Given the description of an element on the screen output the (x, y) to click on. 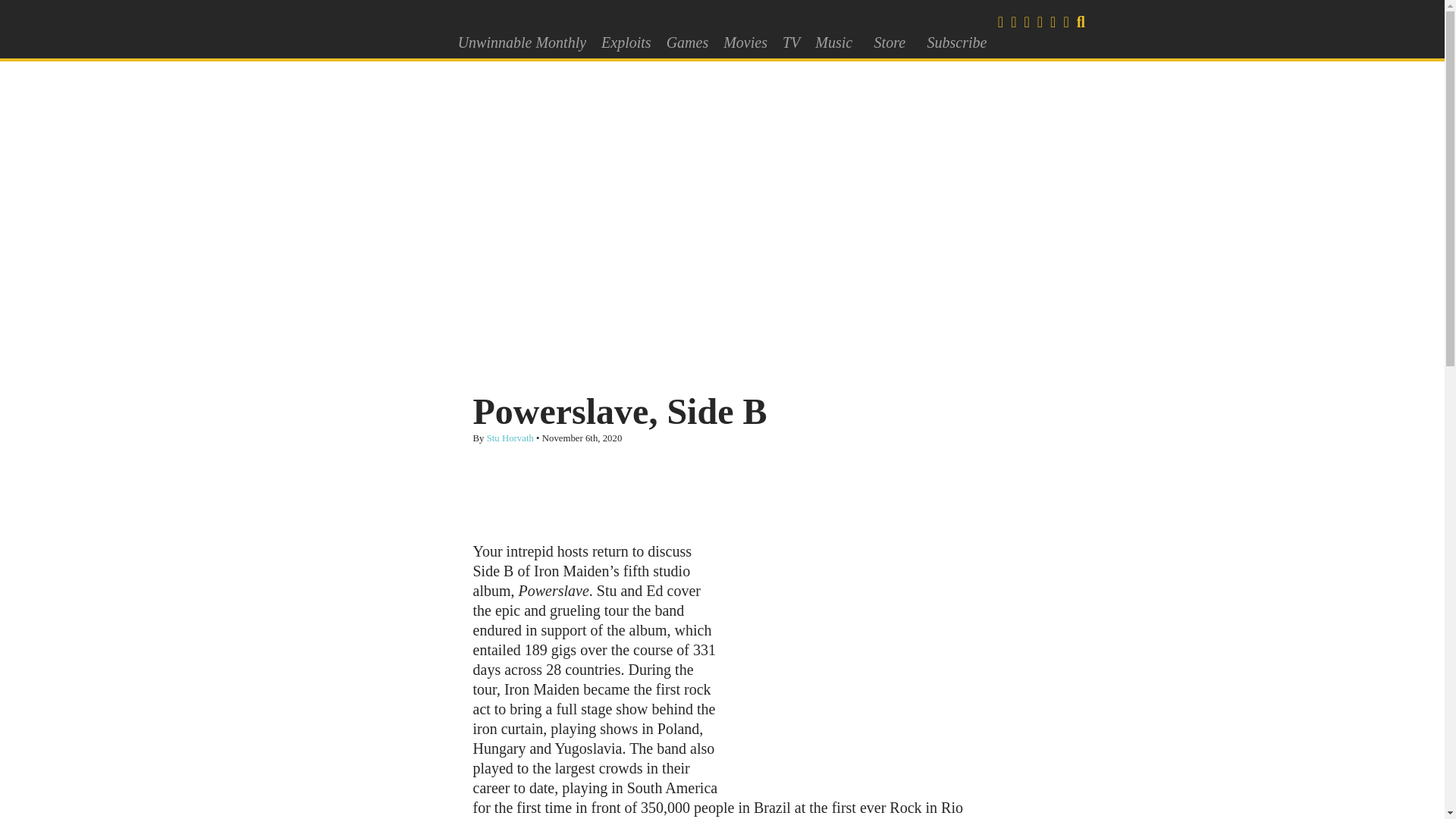
Games (687, 42)
Movies (745, 42)
TV (791, 42)
Exploits (626, 42)
Unwinnable Monthly (521, 42)
Subscribe (956, 42)
Music (834, 42)
Posts by Stu Horvath (510, 438)
Stu Horvath (510, 438)
Store (889, 42)
